Given the description of an element on the screen output the (x, y) to click on. 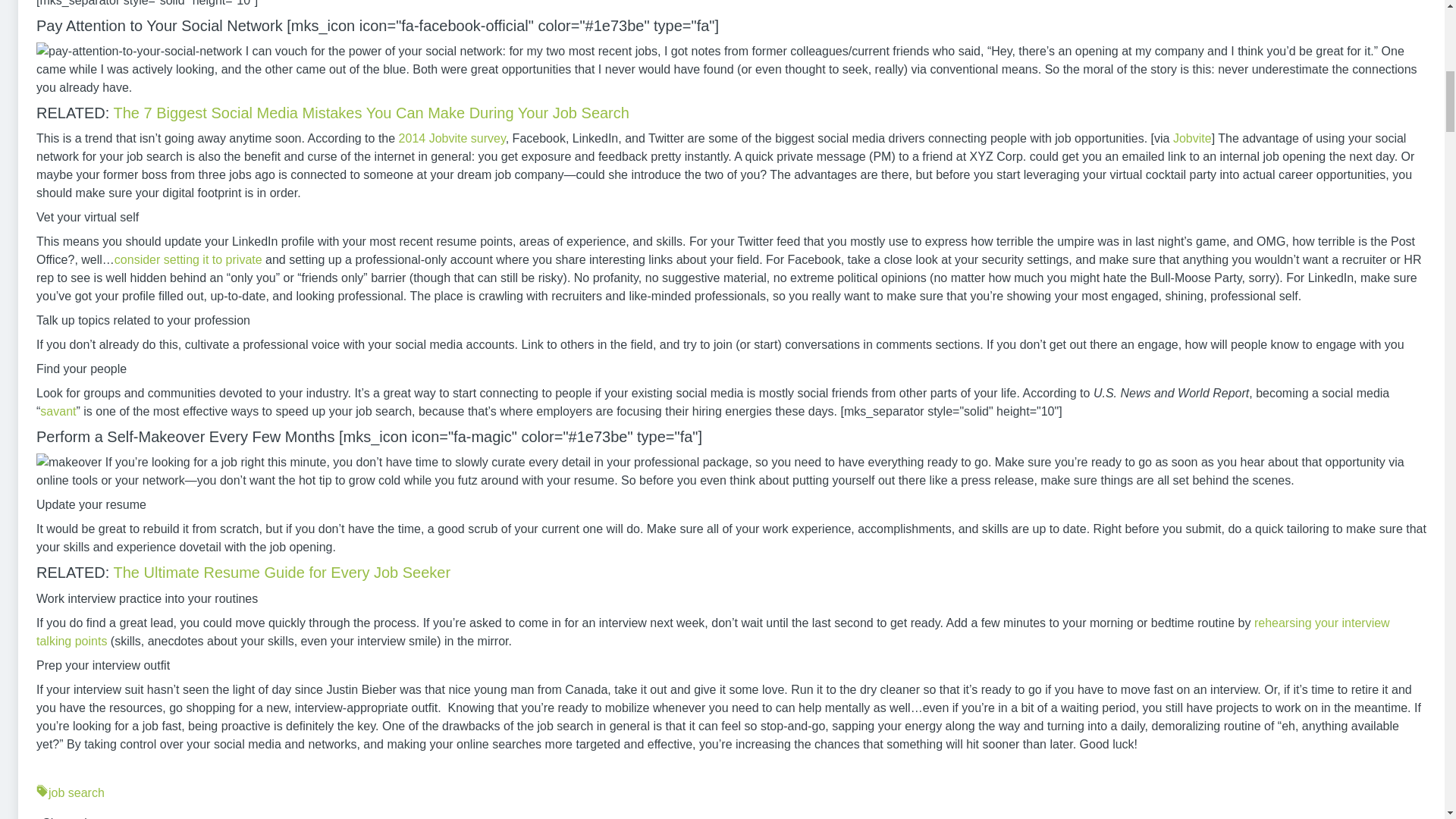
Jobvite (1192, 137)
rehearsing your interview talking points (713, 631)
savant (57, 410)
job search (731, 792)
2014 Jobvite survey (449, 137)
The Ultimate Resume Guide for Every Job Seeker (282, 572)
consider setting it to private (188, 259)
